Given the description of an element on the screen output the (x, y) to click on. 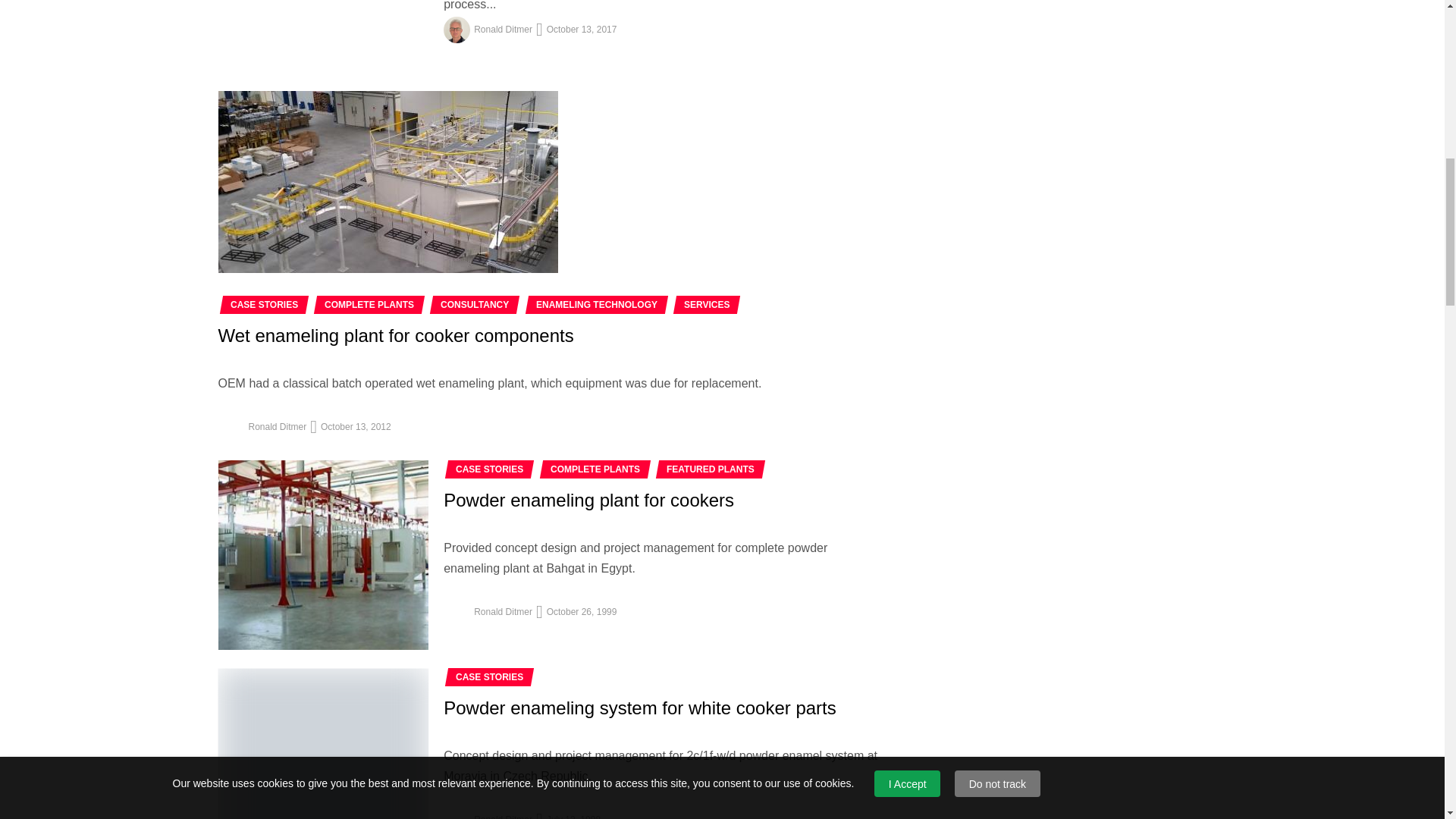
Wet enameling plant for cooker components (387, 181)
CASE STORIES (264, 304)
October 13, 2017 (582, 29)
Ronald Ditmer (503, 29)
Powder enameling plant for cookers (323, 555)
Modern powder enameling plant for cookers (323, 36)
CONSULTANCY (474, 304)
Powder enameling system for white cooker parts (323, 743)
COMPLETE PLANTS (368, 304)
